Given the description of an element on the screen output the (x, y) to click on. 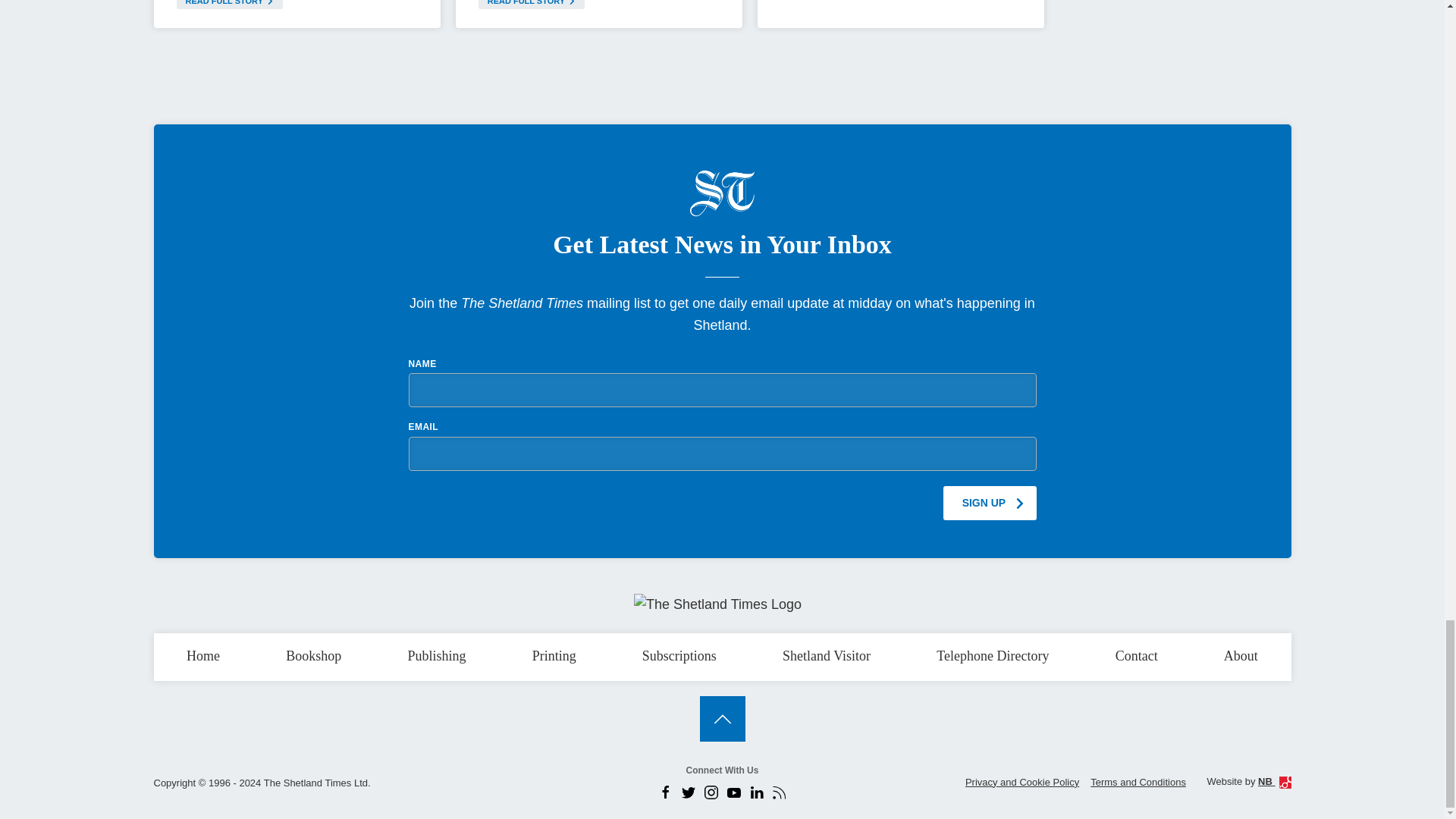
READ FULL STORY (229, 4)
Shetland's website design and internet marketing specialists (1273, 781)
READ FULL STORY (532, 4)
